Given the description of an element on the screen output the (x, y) to click on. 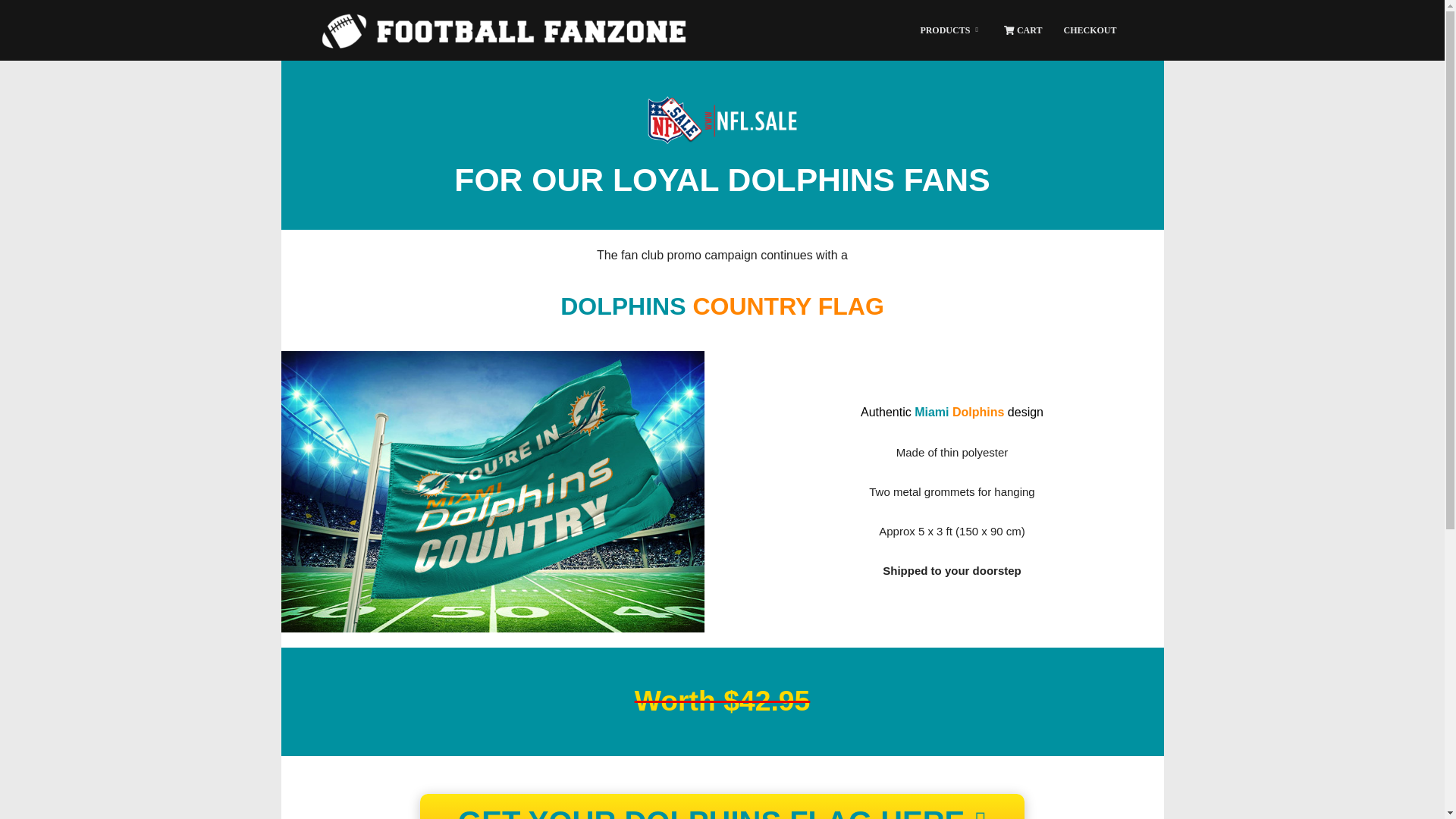
Football Fanzone (503, 30)
GET YOUR DOLPHINS FLAG HERE (722, 806)
CHECKOUT (1089, 30)
PRODUCTS (950, 30)
Dolphins Country Flag Image (492, 491)
CART (1022, 30)
